Given the description of an element on the screen output the (x, y) to click on. 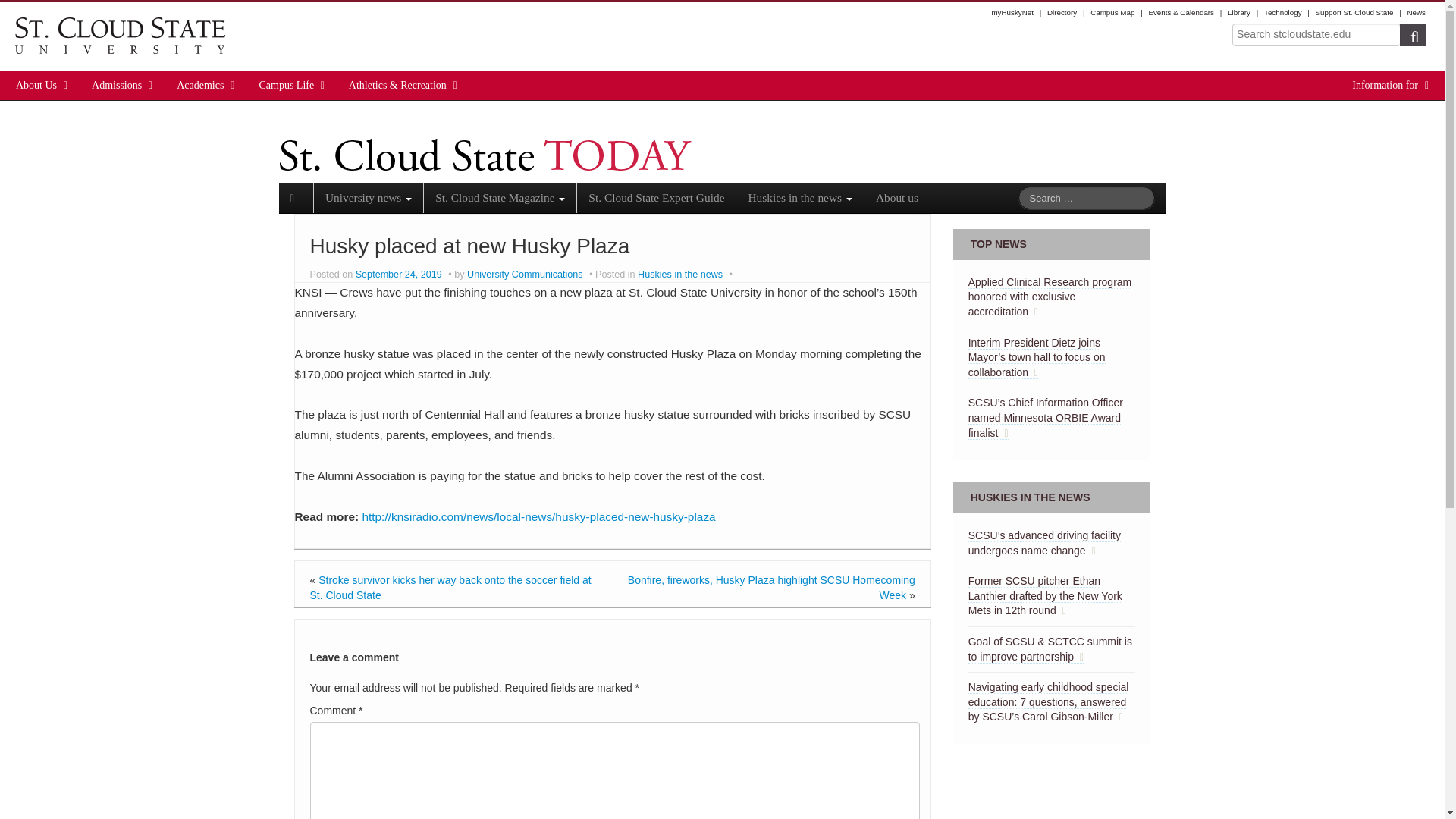
About Us (36, 85)
Academics (199, 85)
Search stcloudstate.edu (1315, 34)
View all posts by University Communications (525, 274)
8:45 am (400, 274)
Campus Life (286, 85)
Admissions (116, 85)
Search stcloudstate.edu (1315, 34)
